Given the description of an element on the screen output the (x, y) to click on. 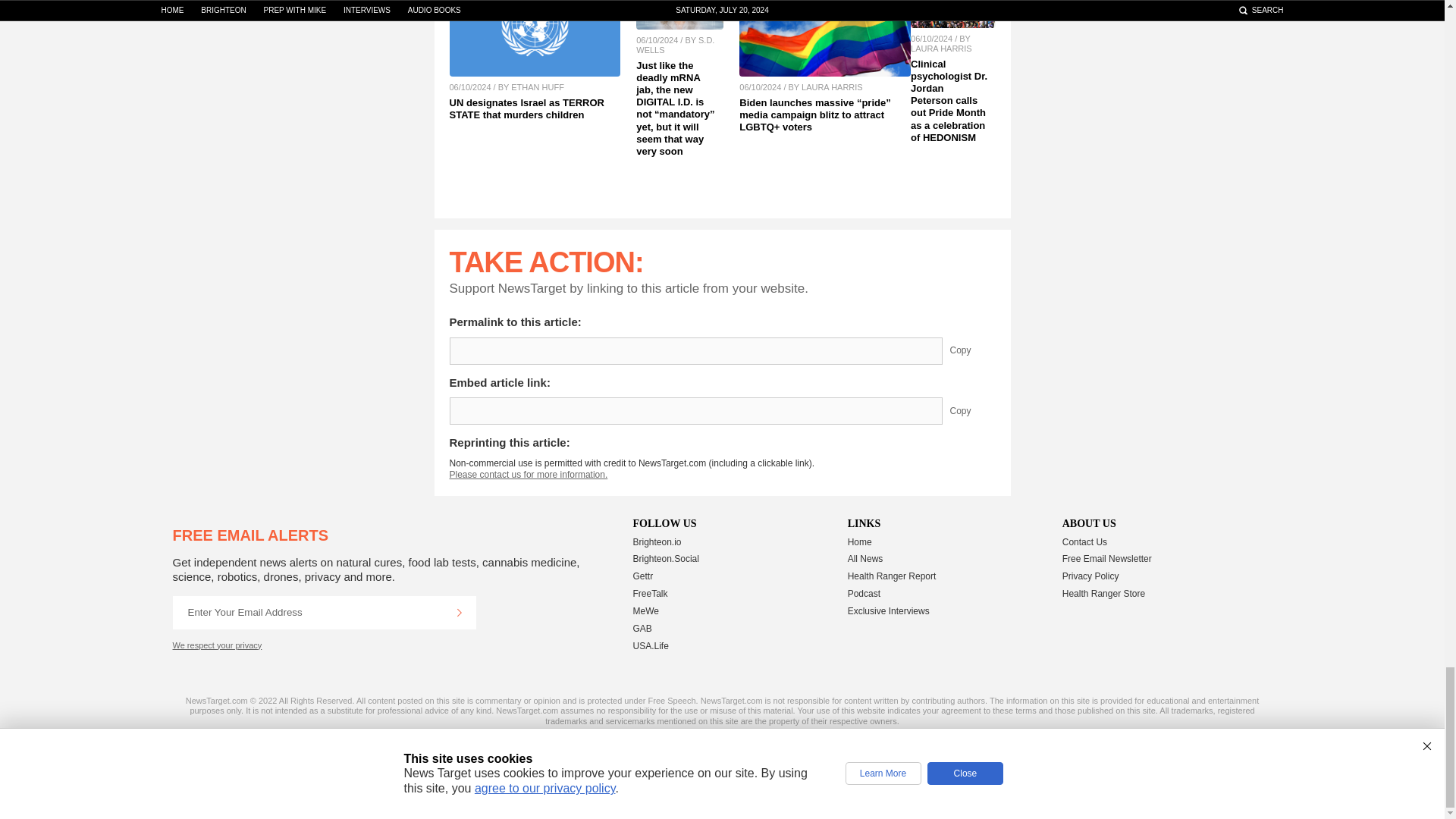
Copy Embed Link (971, 411)
Copy Permalink (971, 350)
Continue (459, 612)
